Given the description of an element on the screen output the (x, y) to click on. 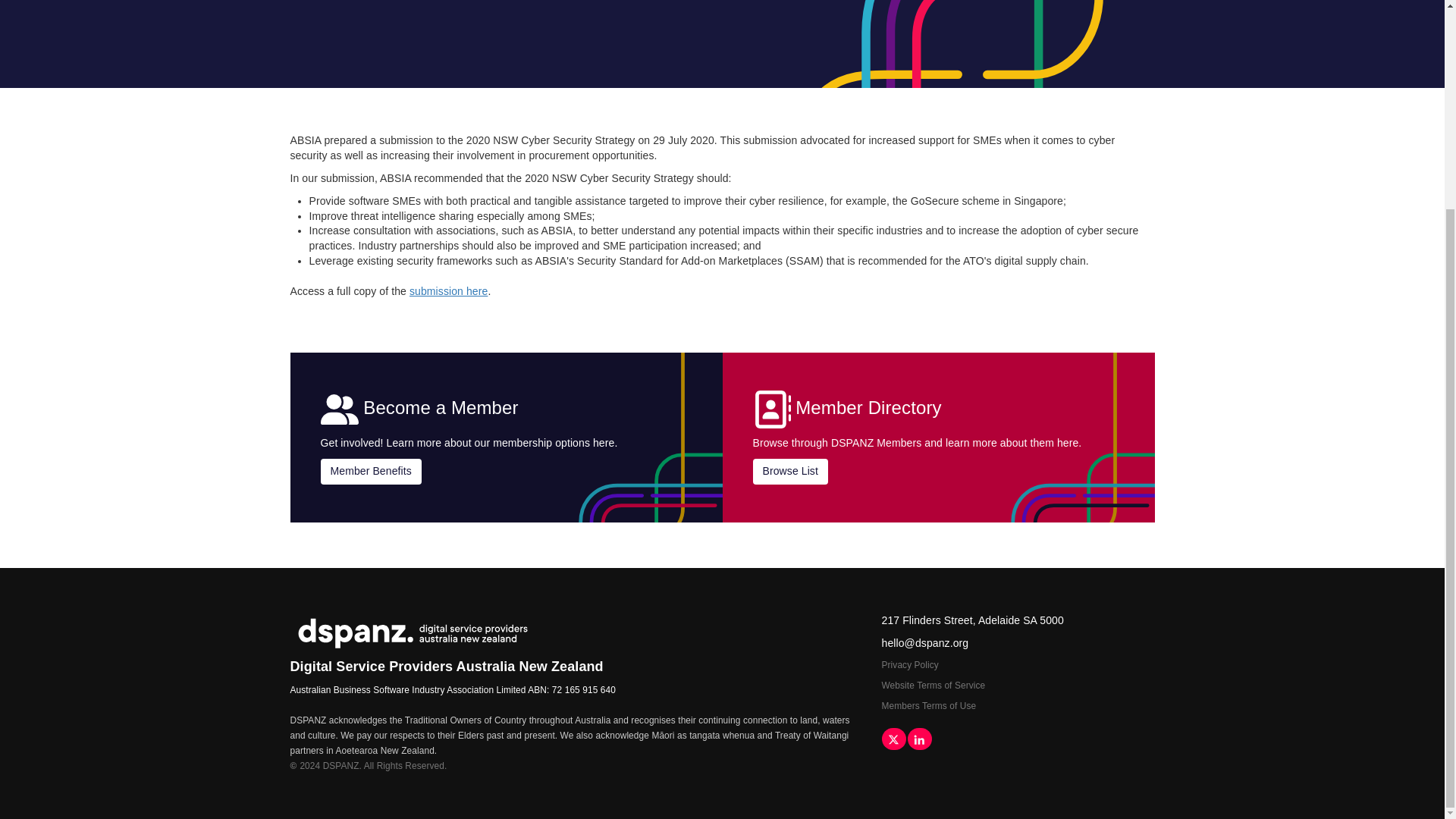
LinkedIn (919, 739)
